Given the description of an element on the screen output the (x, y) to click on. 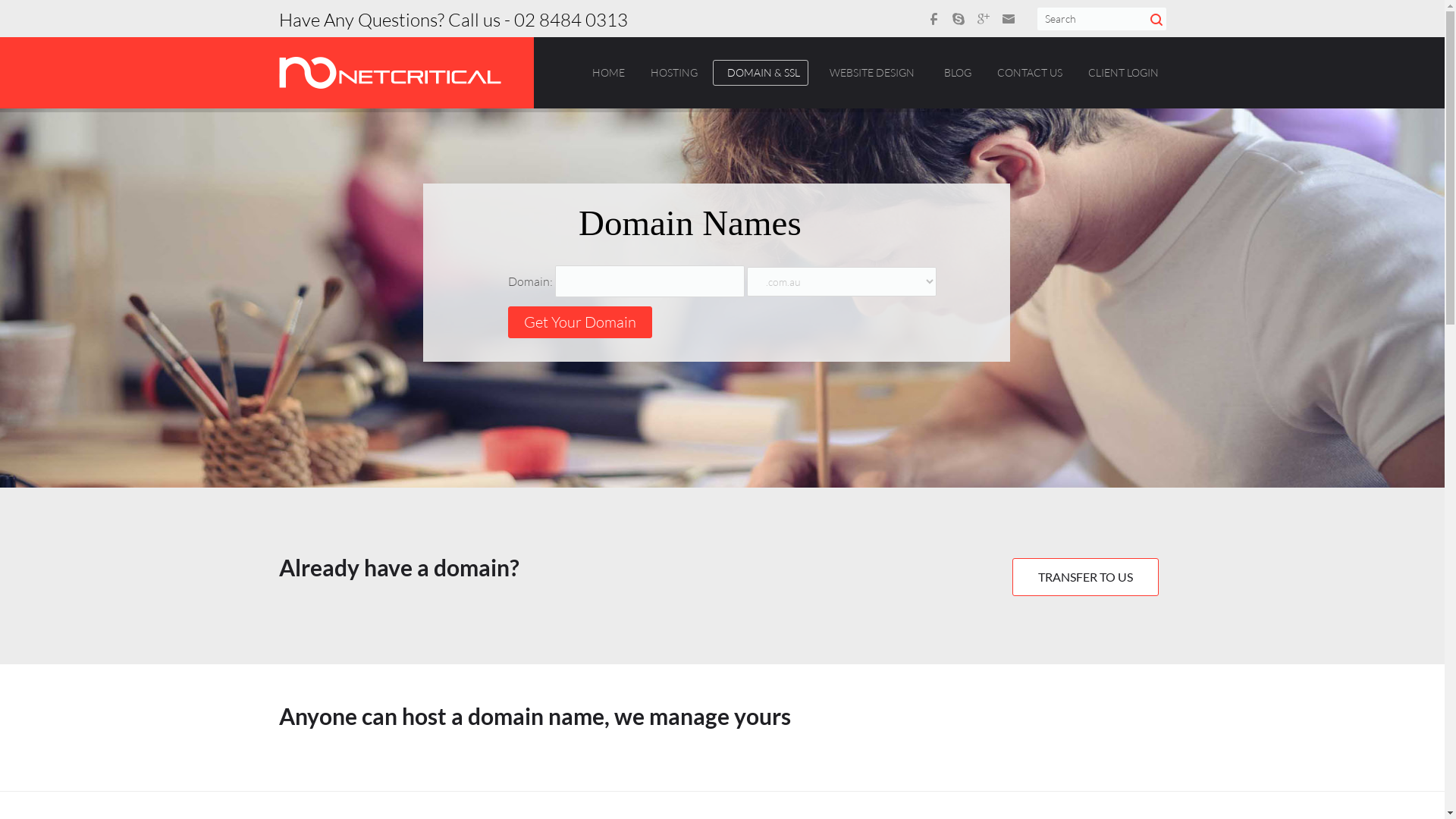
DOMAIN & SSL Element type: text (763, 72)
HOSTING Element type: text (673, 72)
HOME Element type: text (608, 72)
Get Your Domain Element type: text (72, 544)
TRANSFER TO US Element type: text (1084, 577)
CLIENT LOGIN Element type: text (1123, 72)
WEBSITE DESIGN Element type: text (871, 72)
CONTACT US Element type: text (1029, 72)
BLOG Element type: text (957, 72)
Get Your Domain Element type: text (580, 322)
